Given the description of an element on the screen output the (x, y) to click on. 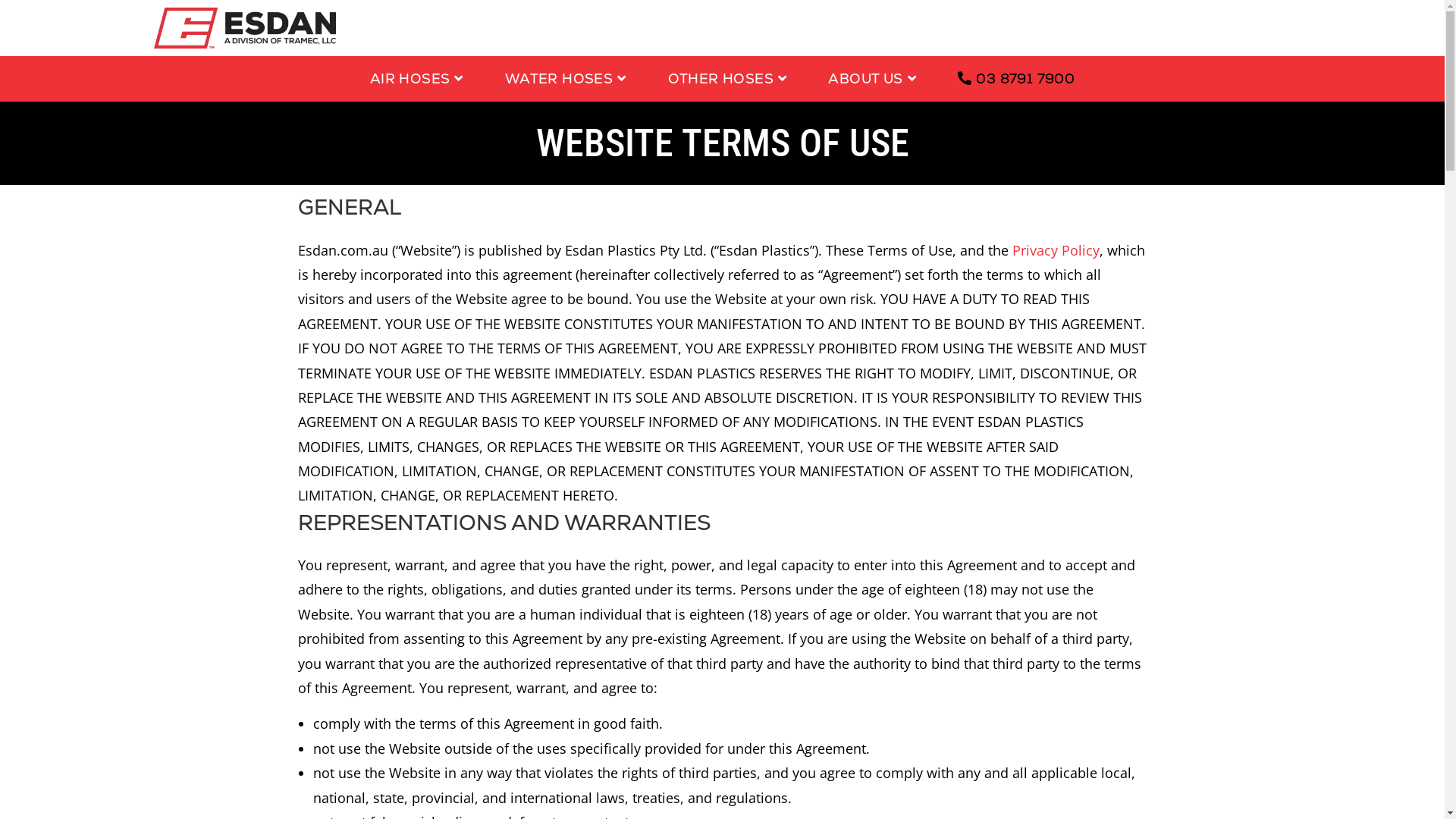
AIR HOSES Element type: text (418, 78)
03 8791 7900 Element type: text (1015, 78)
Privacy Policy Element type: text (1054, 250)
OTHER HOSES Element type: text (729, 78)
ABOUT US Element type: text (873, 78)
WATER HOSES Element type: text (567, 78)
